Given the description of an element on the screen output the (x, y) to click on. 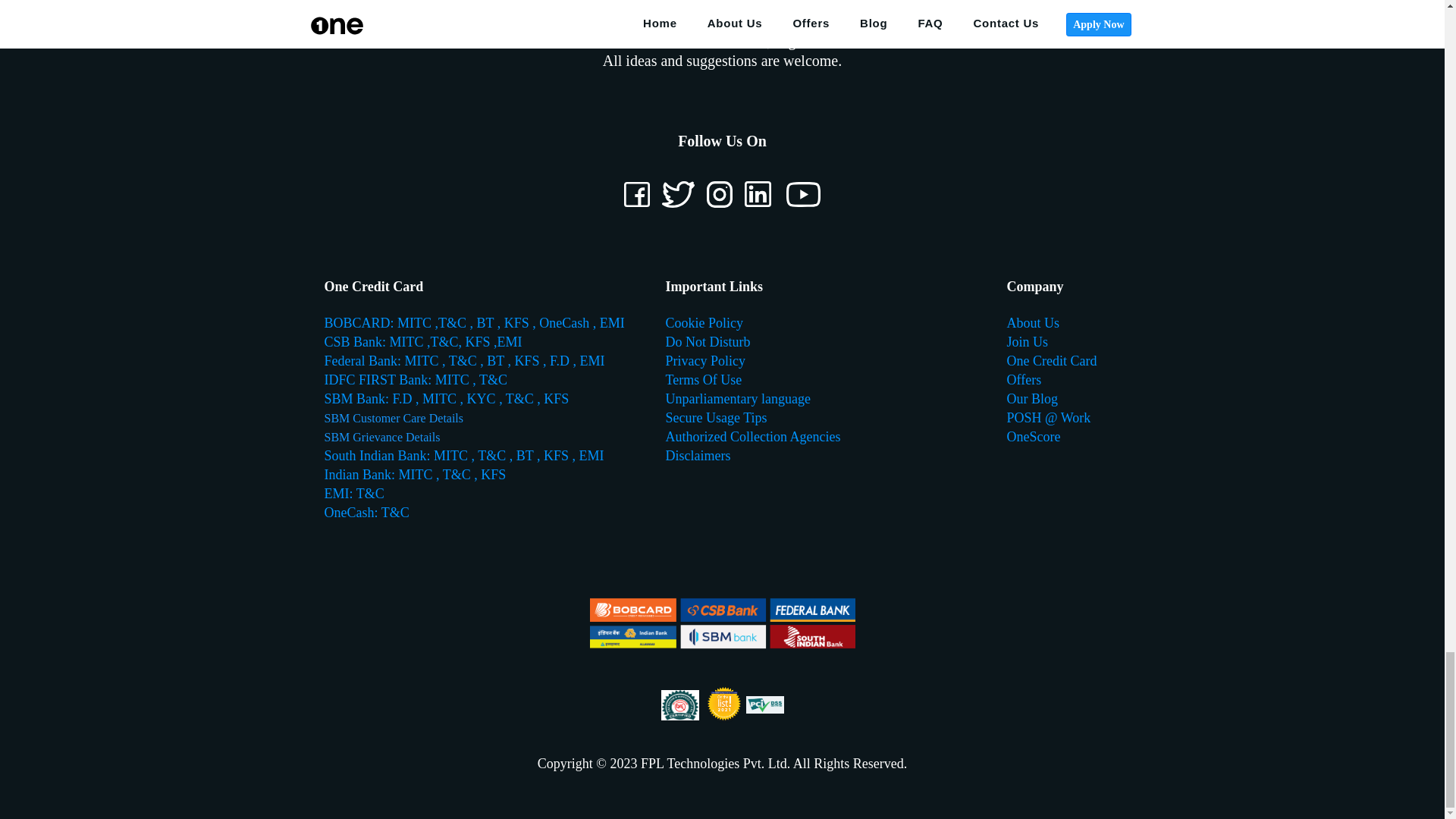
OneCash (563, 322)
BT (486, 322)
KFS (517, 322)
EMI (611, 322)
MITC (416, 322)
